Given the description of an element on the screen output the (x, y) to click on. 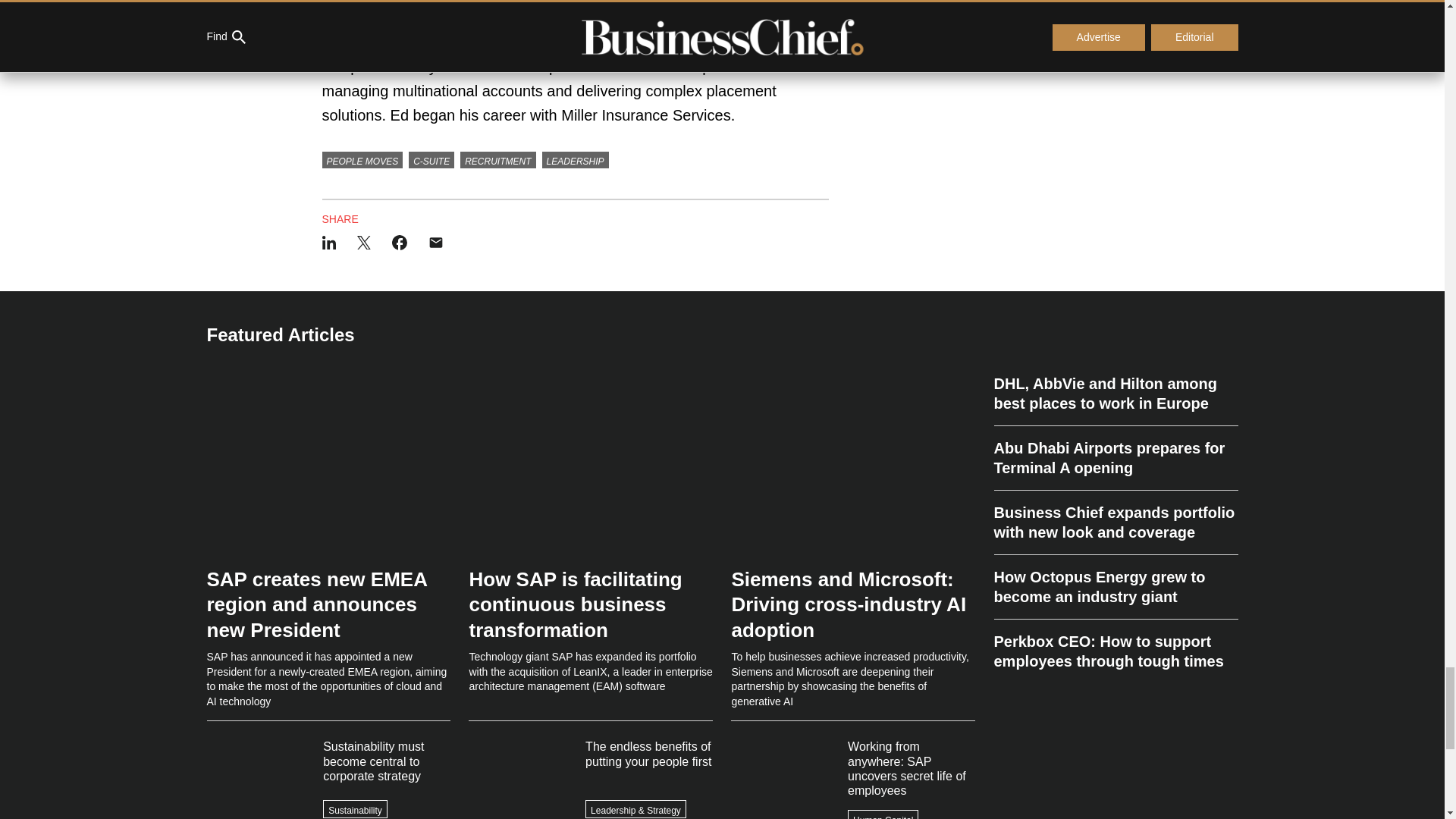
LEADERSHIP (574, 159)
C-SUITE (431, 159)
RECRUITMENT (497, 159)
PEOPLE MOVES (362, 159)
